Given the description of an element on the screen output the (x, y) to click on. 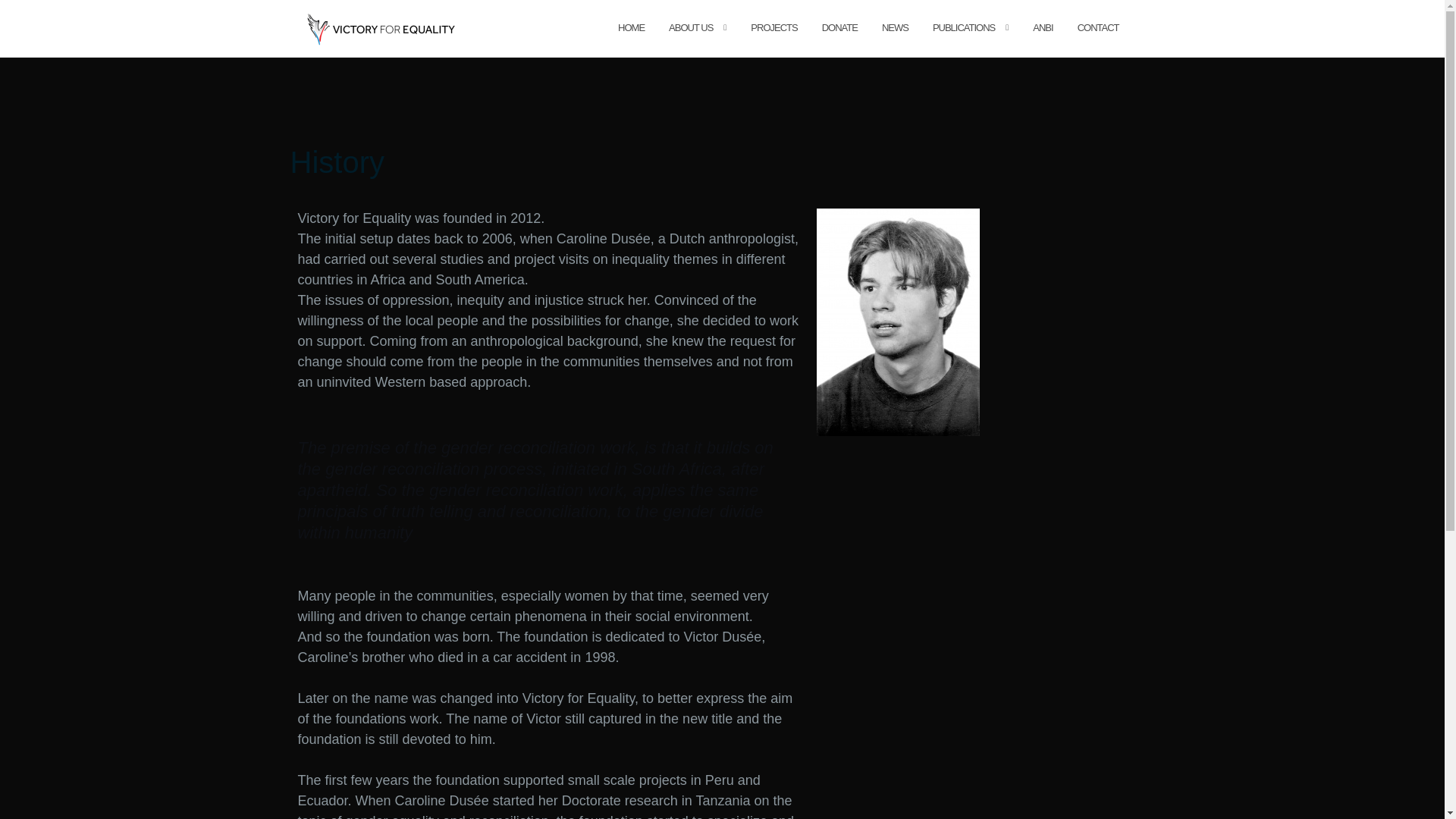
PROJECTS (773, 28)
Projects (773, 28)
About us (690, 28)
History (336, 162)
PUBLICATIONS (963, 28)
Publications (963, 28)
CONTACT (1098, 28)
ABOUT US (690, 28)
